Given the description of an element on the screen output the (x, y) to click on. 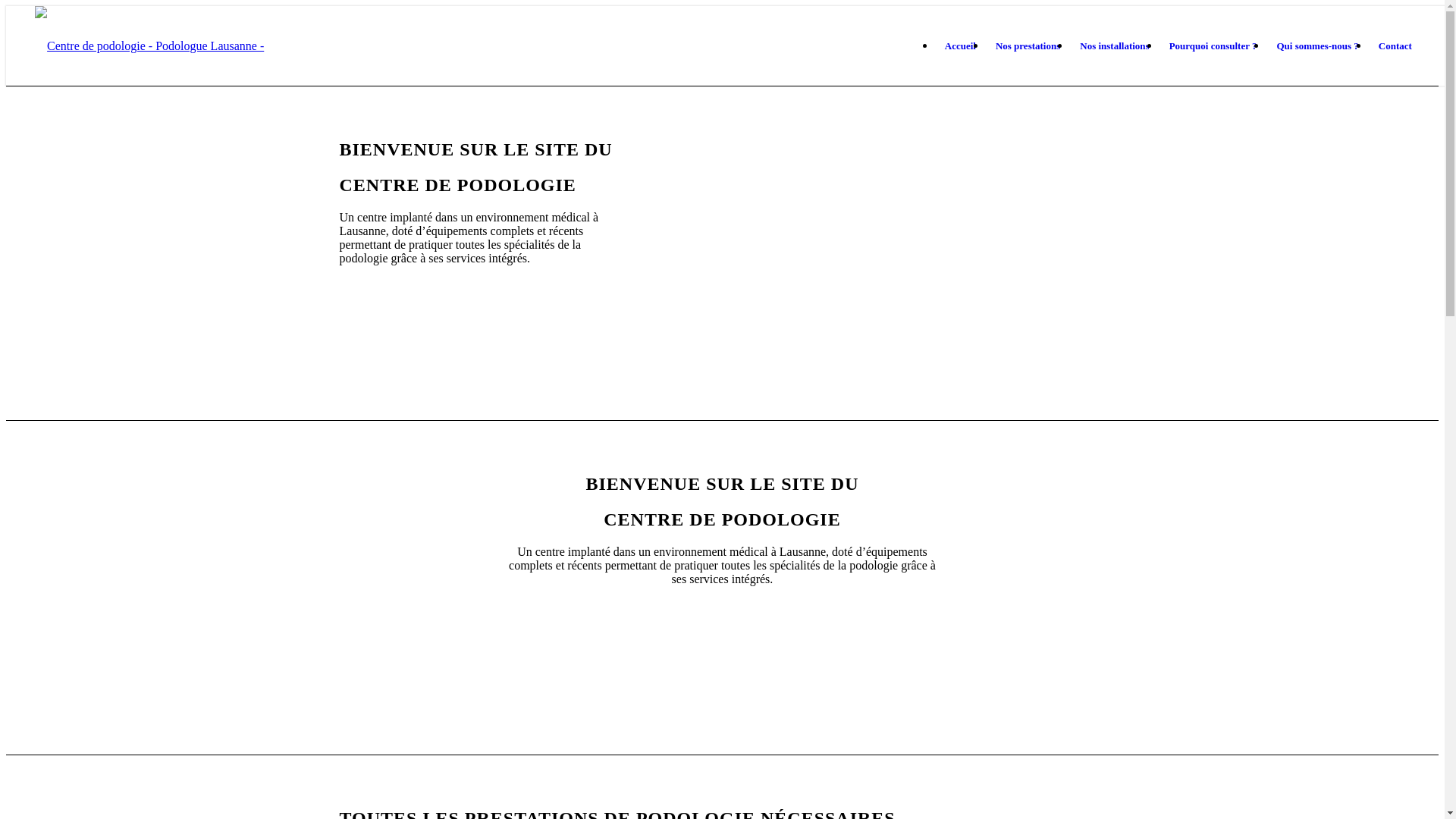
Pourquoi consulter ? Element type: text (1213, 45)
Nos installations Element type: text (1114, 45)
Contact Element type: text (1394, 45)
Accueil Element type: text (960, 45)
Nos prestations Element type: text (1027, 45)
Qui sommes-nous ? Element type: text (1317, 45)
